Given the description of an element on the screen output the (x, y) to click on. 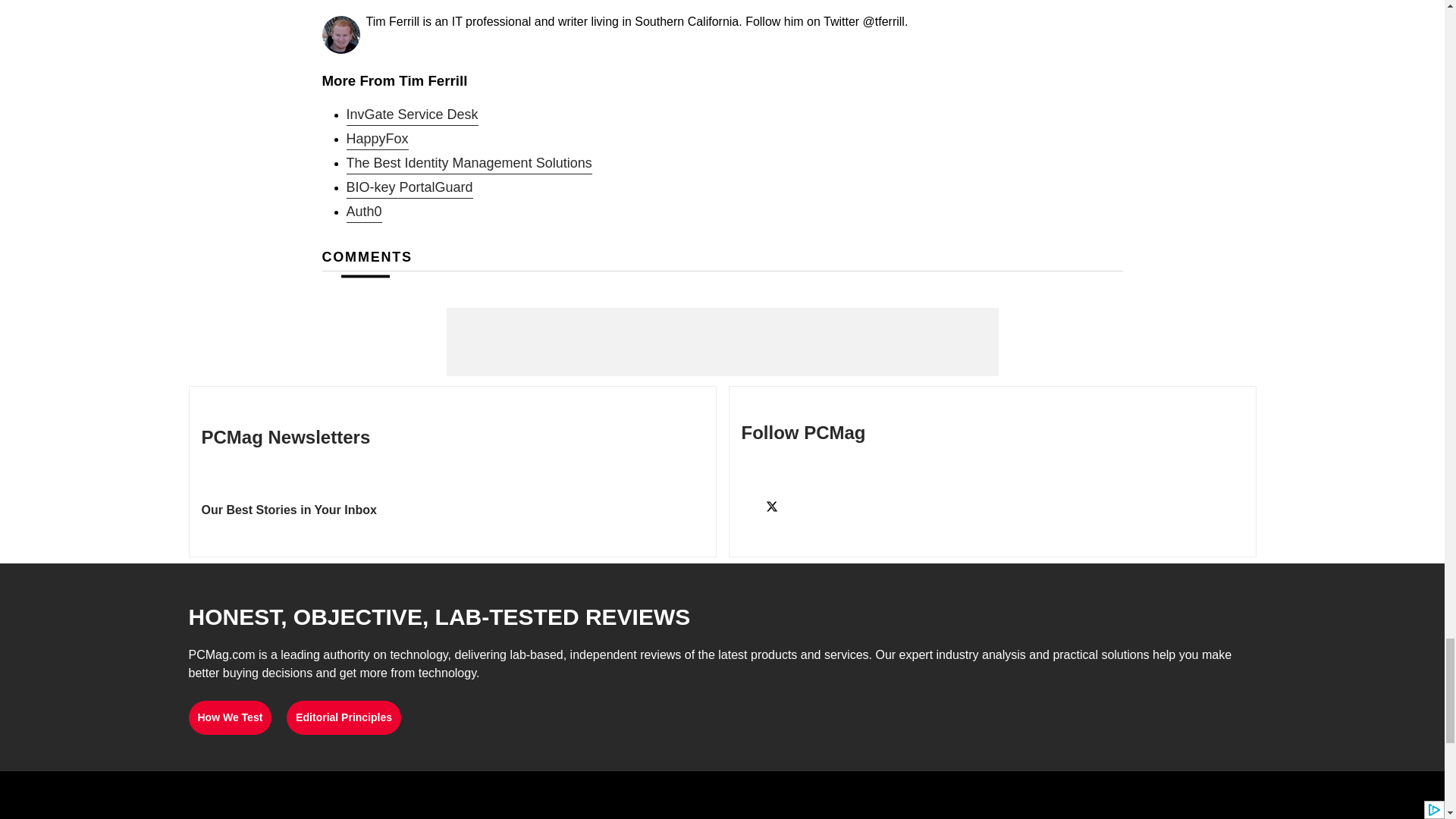
3rd party ad content (721, 341)
